Given the description of an element on the screen output the (x, y) to click on. 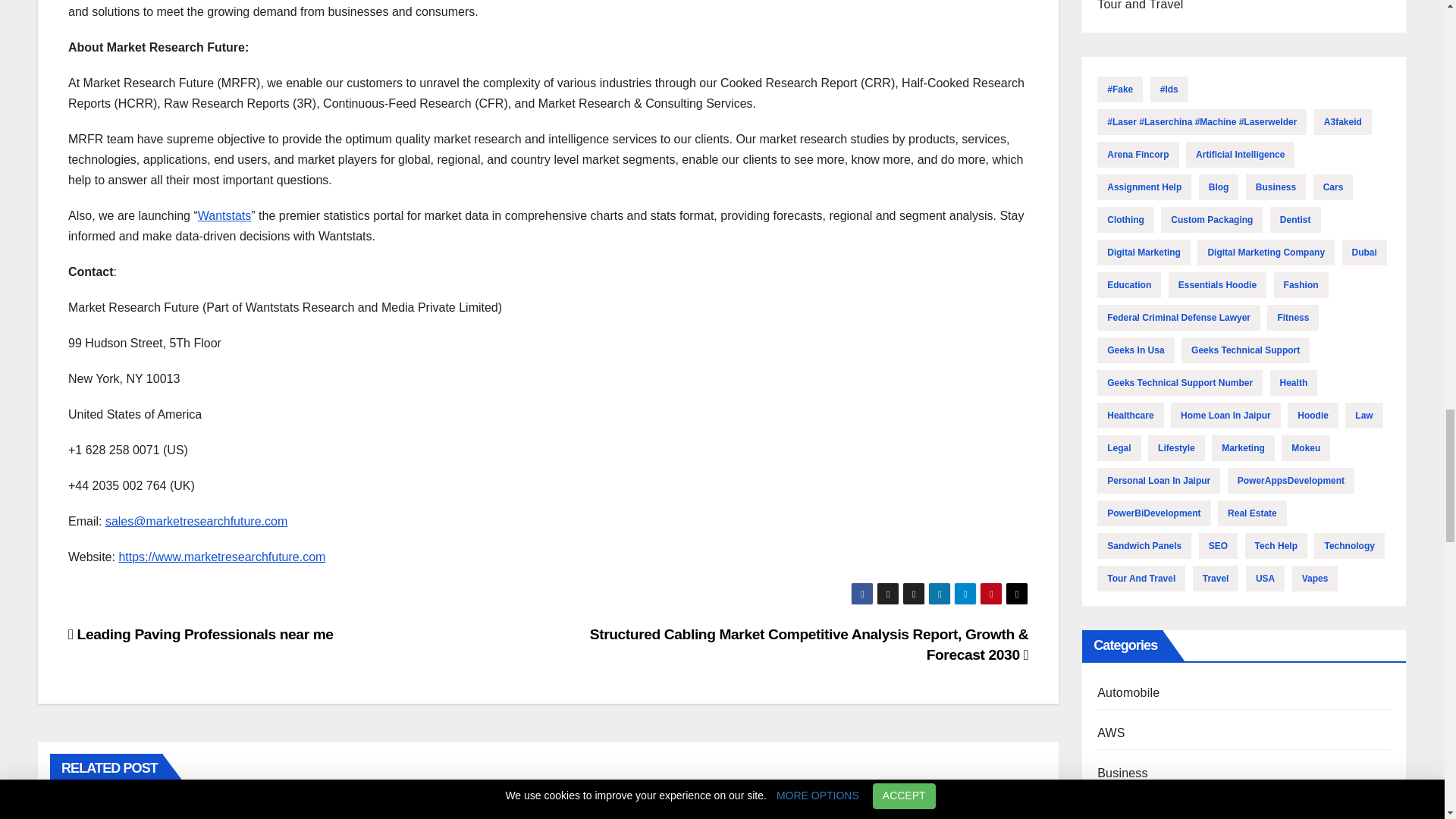
Wantstats (224, 215)
